Given the description of an element on the screen output the (x, y) to click on. 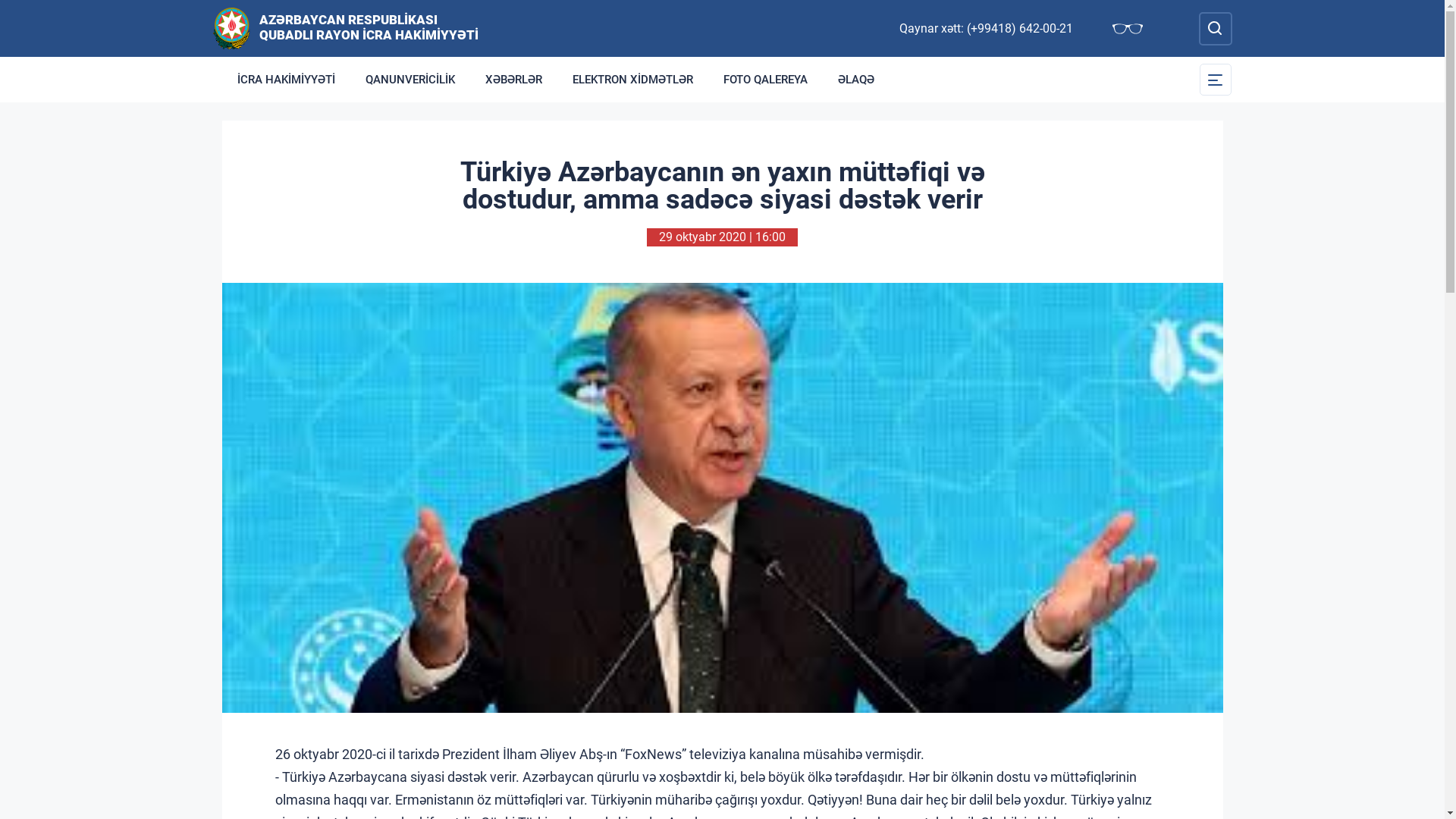
FOTO QALEREYA Element type: text (765, 79)
QANUNVERICILIK Element type: text (410, 79)
